Given the description of an element on the screen output the (x, y) to click on. 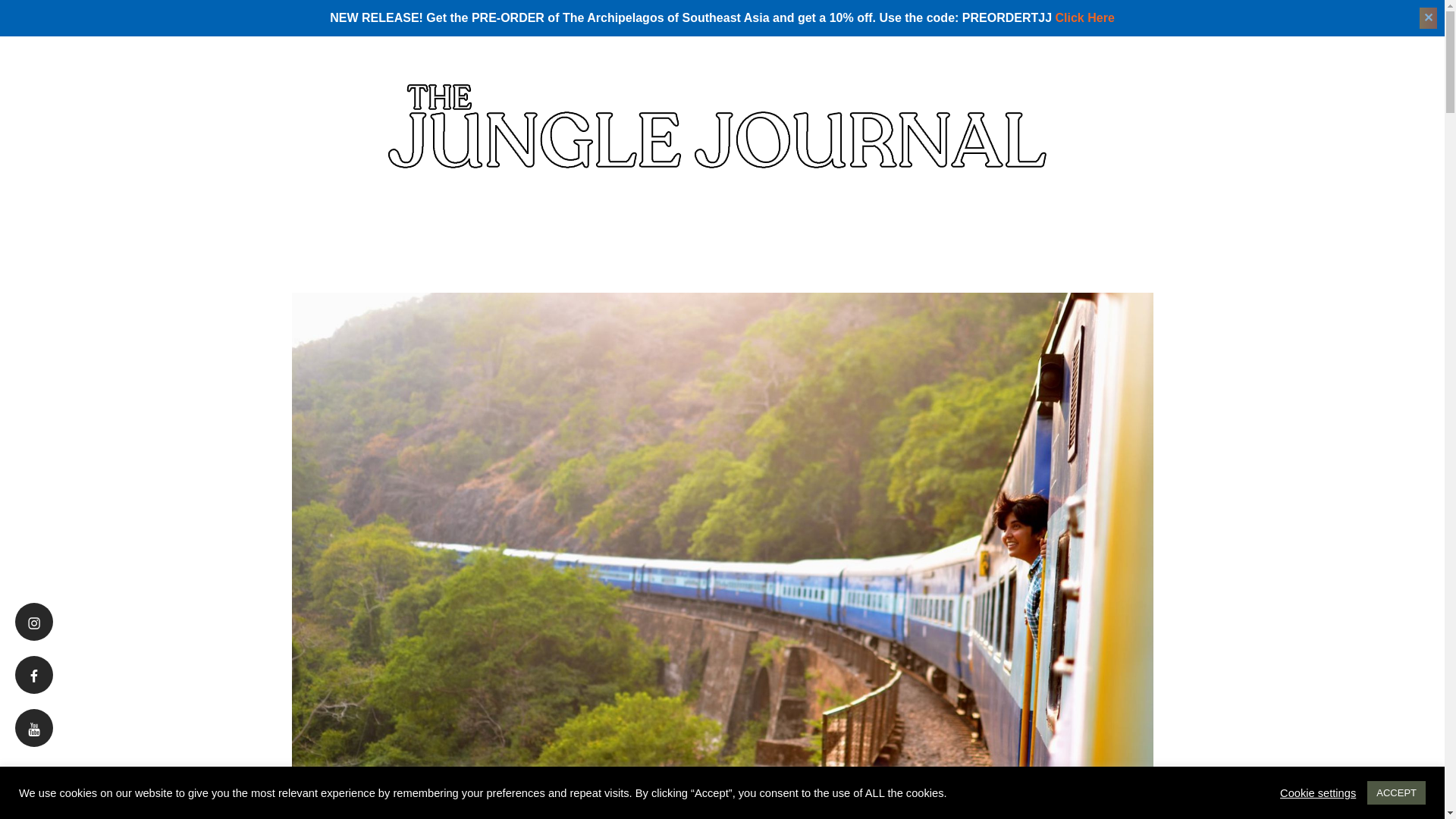
Click Here (1085, 17)
MENU (109, 126)
THE JUNGLE JOURNAL (1208, 136)
